Given the description of an element on the screen output the (x, y) to click on. 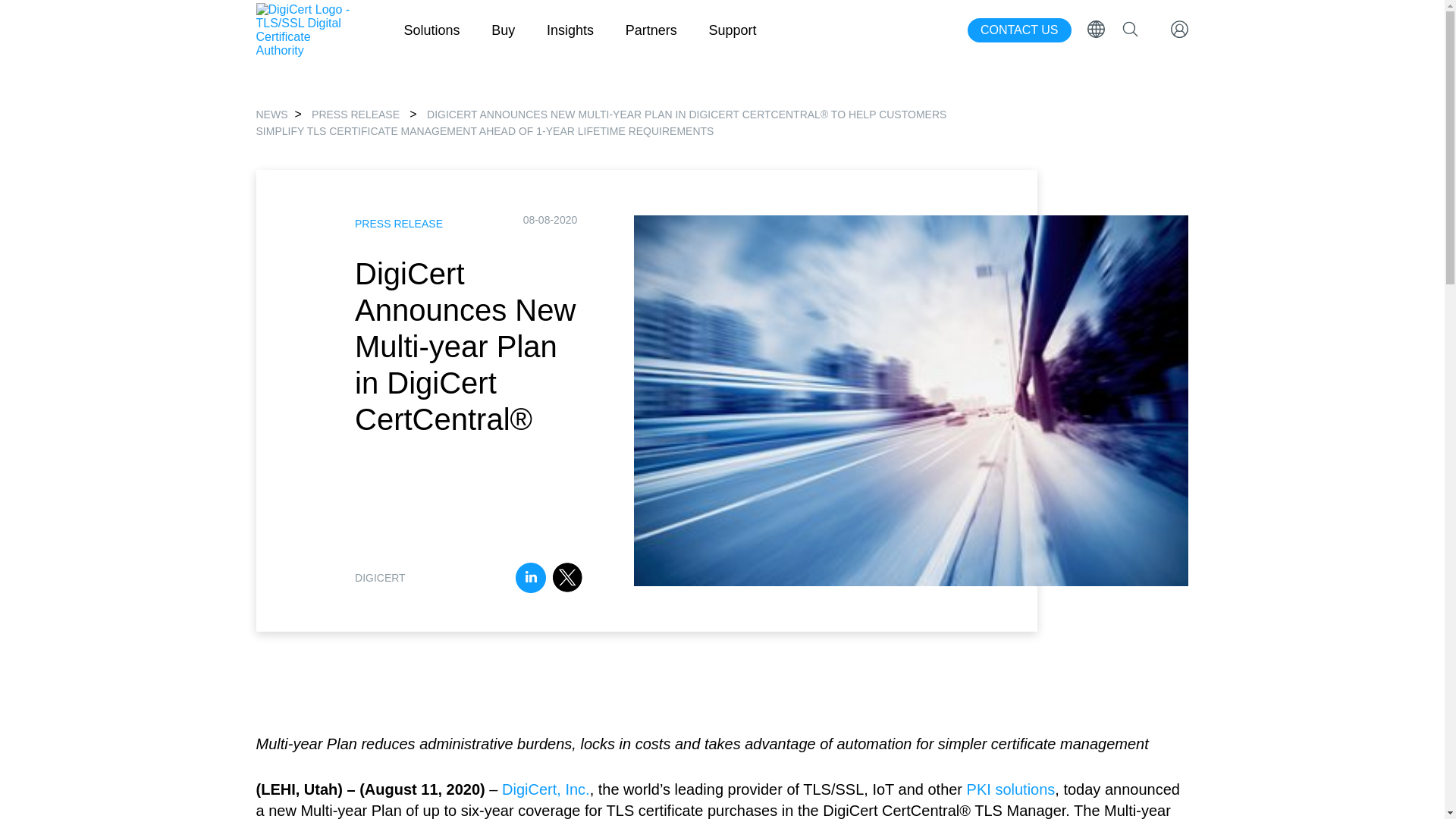
Share Post To LinkedIn (530, 579)
Share Post To Twitter (567, 579)
